Given the description of an element on the screen output the (x, y) to click on. 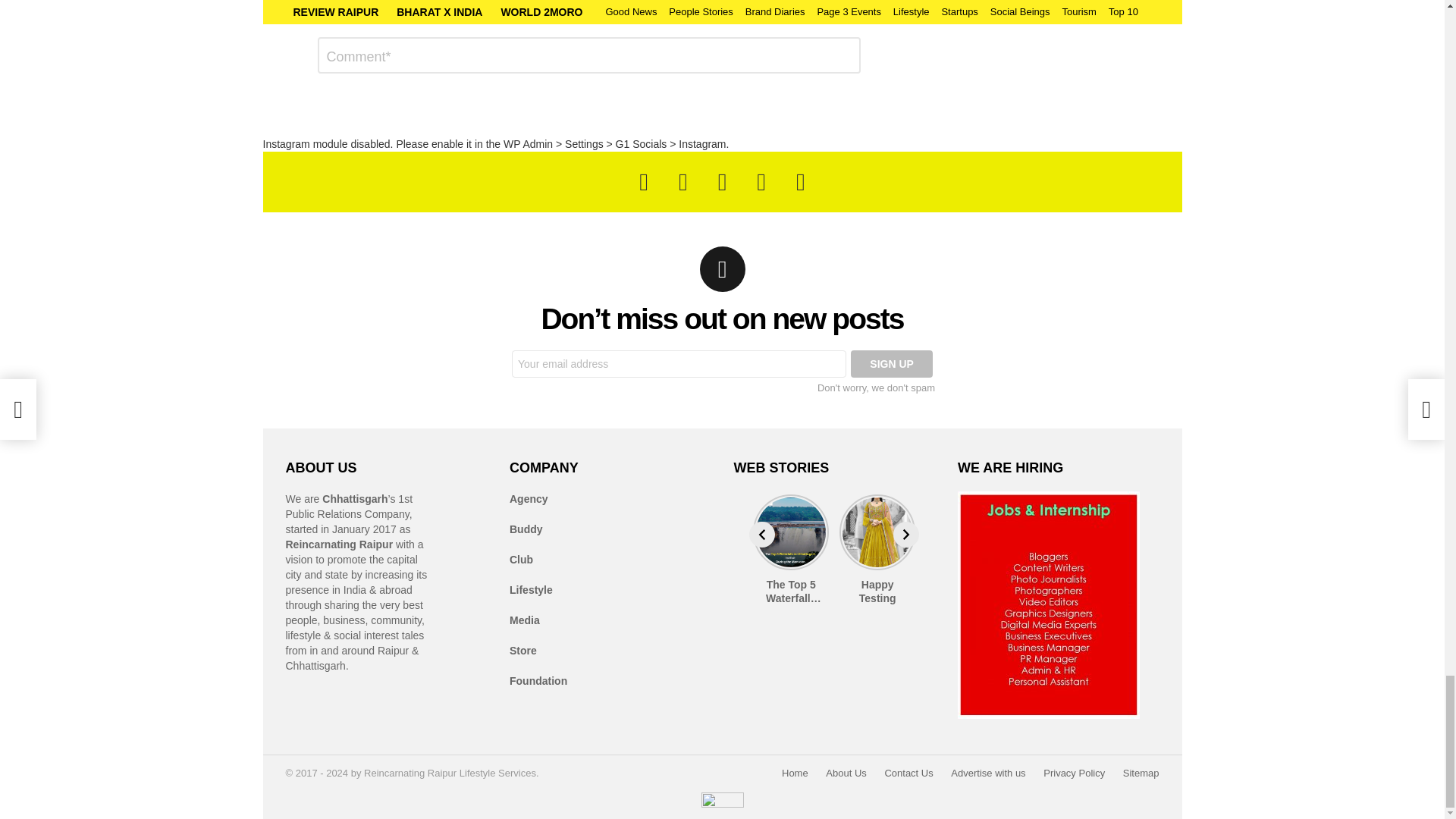
sign Up (891, 363)
